Given the description of an element on the screen output the (x, y) to click on. 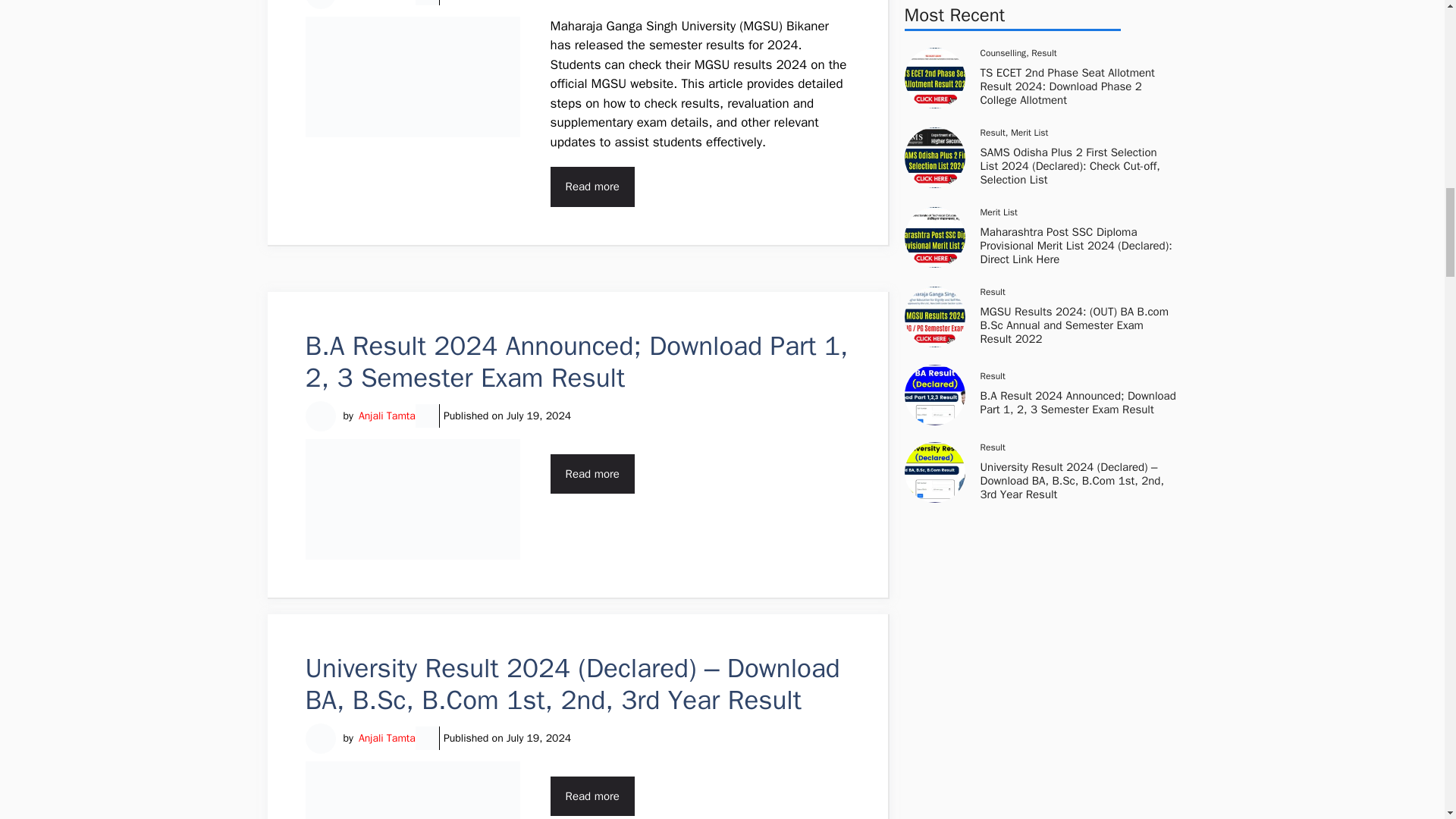
Read more (592, 796)
Anjali Tamta (386, 415)
Read more (592, 473)
Anjali Tamta (386, 0)
Anjali Tamta (386, 738)
Read more (592, 187)
